Given the description of an element on the screen output the (x, y) to click on. 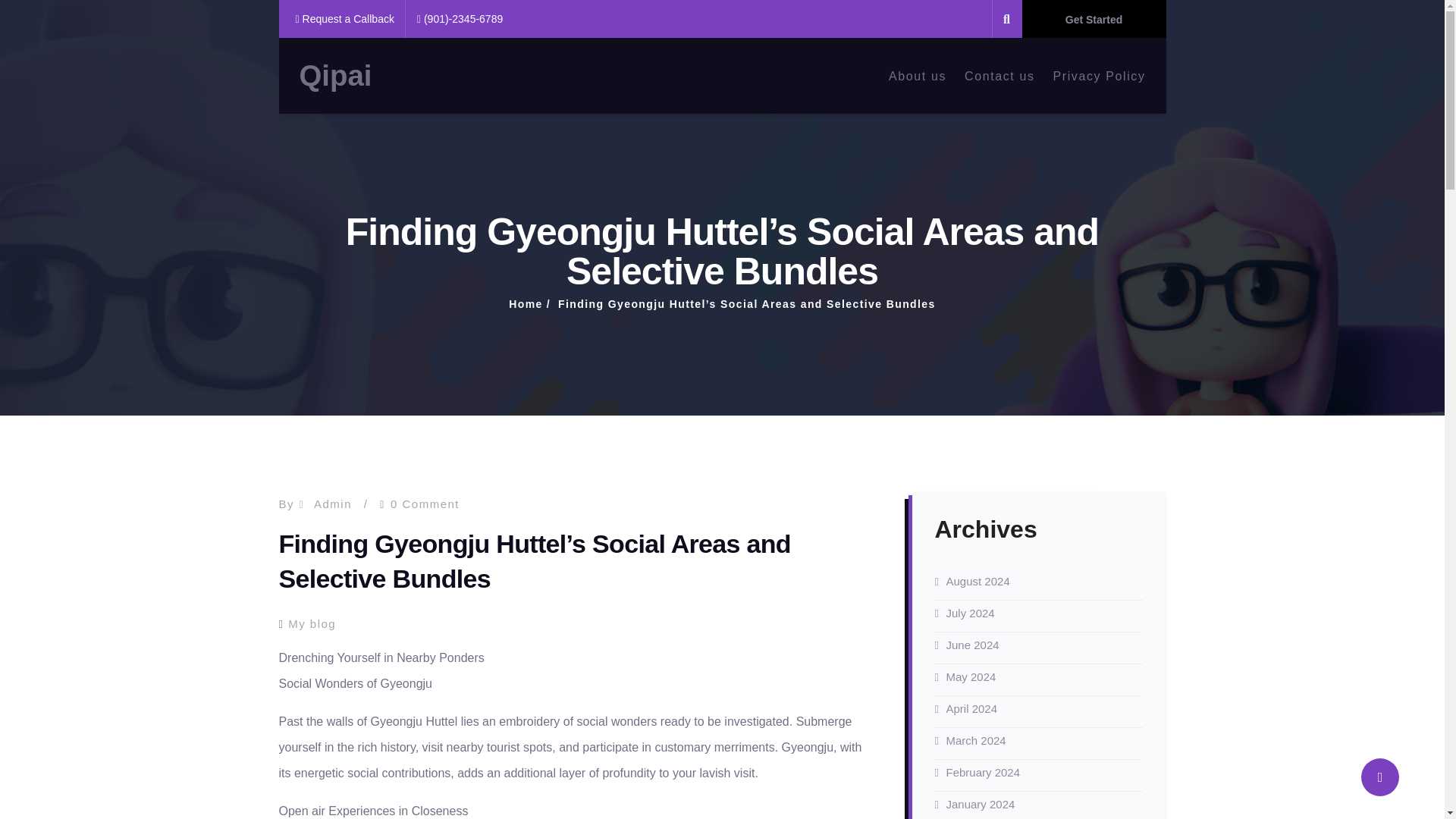
Qipai (334, 75)
February 2024 (983, 772)
April 2024 (971, 708)
My blog (312, 623)
Get Started (1094, 18)
July 2024 (970, 614)
May 2024 (970, 676)
Home (525, 304)
Contact us (998, 74)
Privacy Policy (1098, 74)
